Given the description of an element on the screen output the (x, y) to click on. 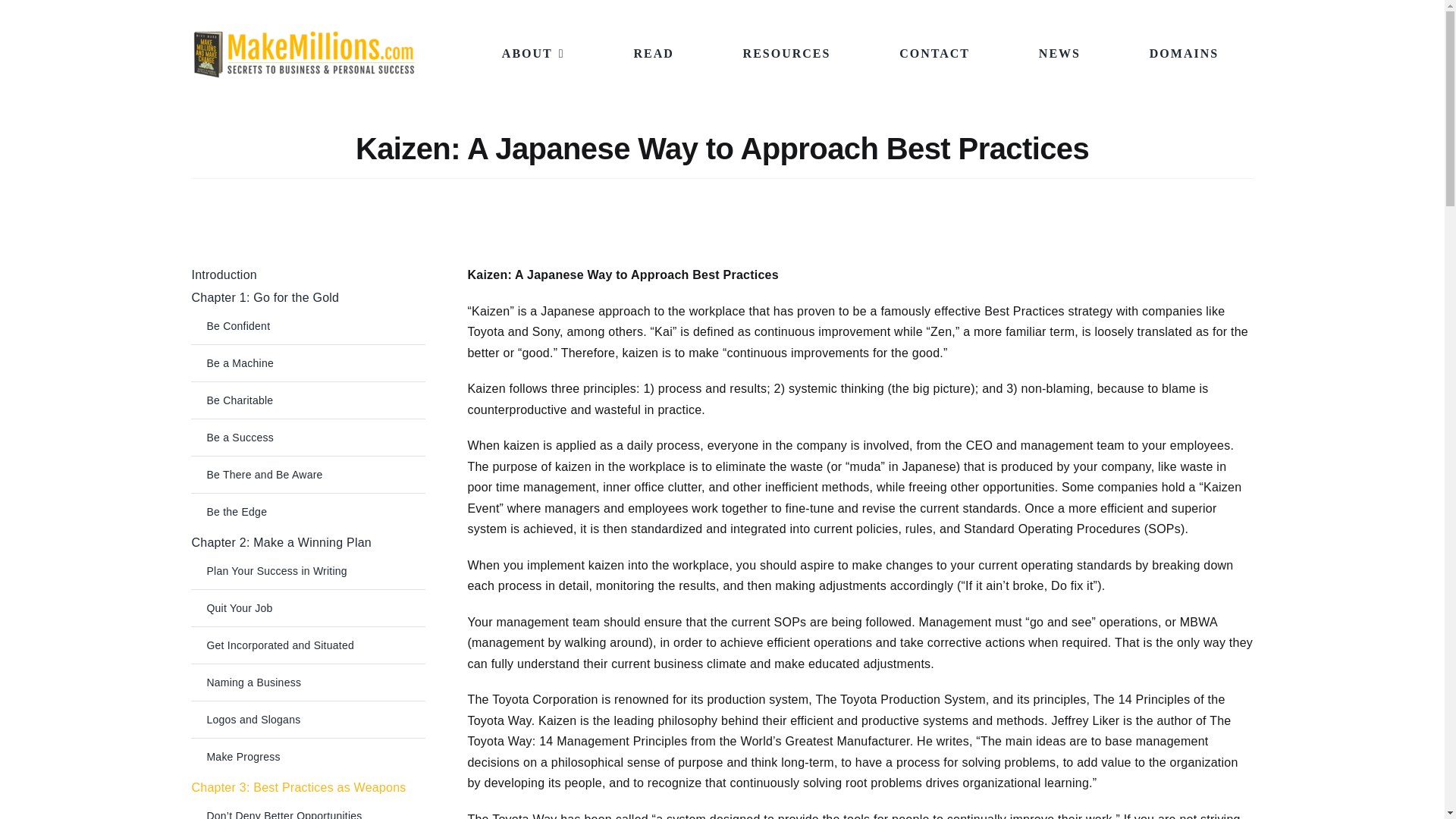
Naming a Business (307, 682)
Get Incorporated and Situated (307, 645)
Make Progress (307, 756)
Quit Your Job (307, 607)
ABOUT (533, 53)
Be a Success (307, 437)
Chapter 3: Best Practices as Weapons (307, 787)
Logos and Slogans (307, 719)
Be Charitable (307, 400)
Introduction (307, 274)
NEWS (1059, 53)
Chapter 2: Make a Winning Plan (307, 542)
DOMAINS (1184, 53)
Be the Edge (307, 511)
Be a Machine (307, 362)
